Given the description of an element on the screen output the (x, y) to click on. 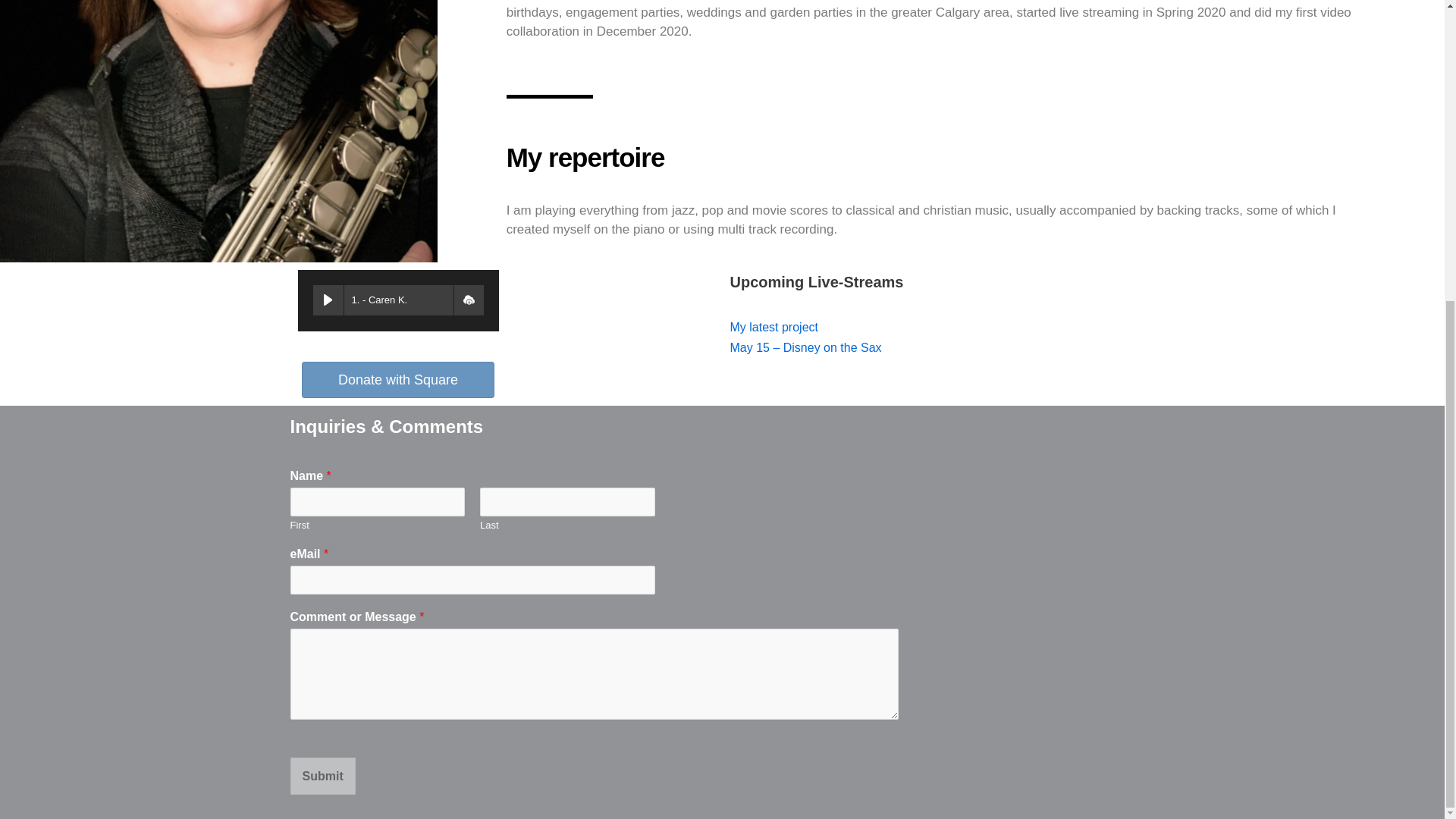
My latest project (772, 327)
Submit (322, 775)
Download this track (467, 300)
Donate with Square (398, 379)
